Given the description of an element on the screen output the (x, y) to click on. 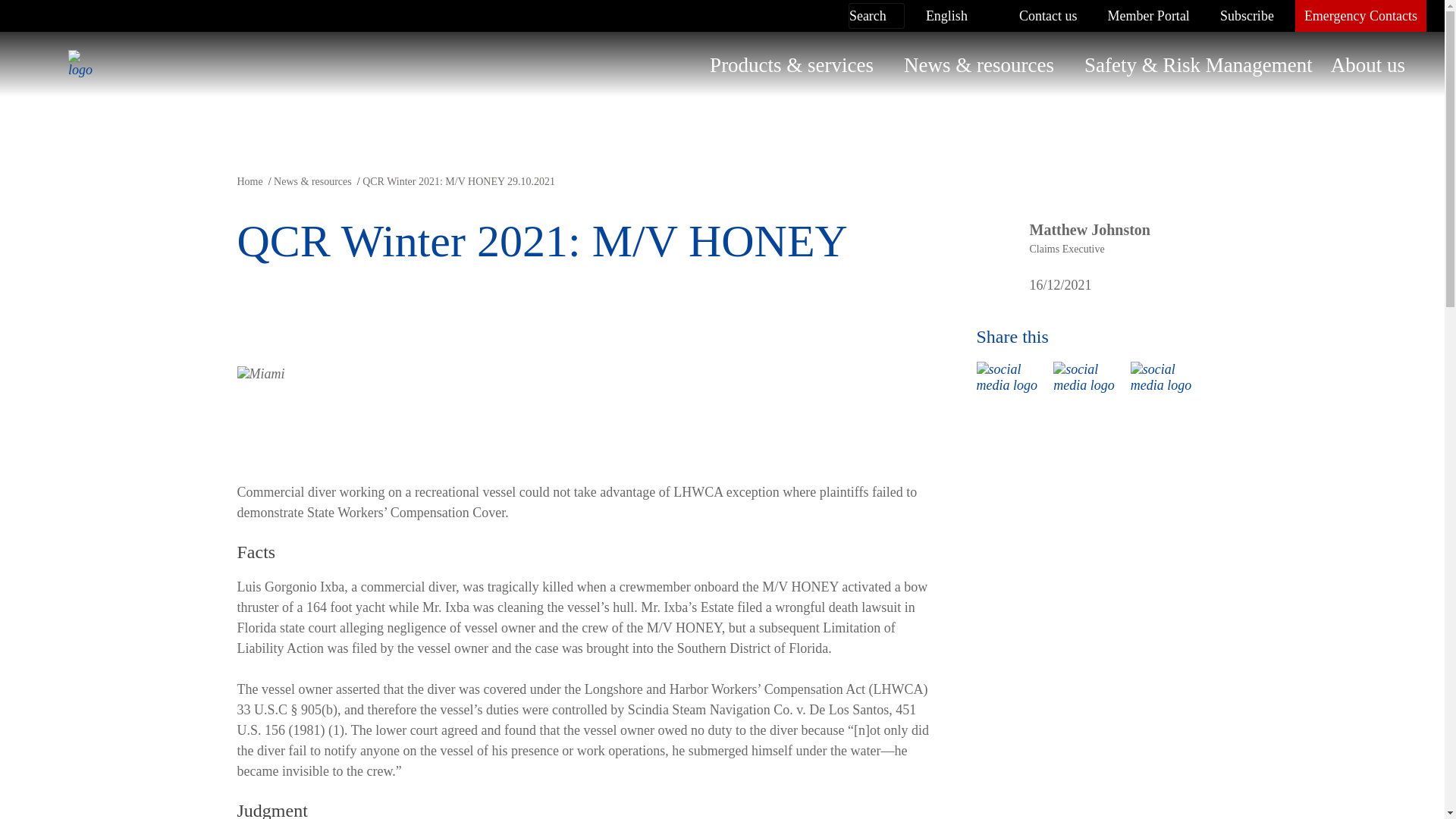
Emergency Contacts (1360, 15)
Contact us (1048, 15)
English (946, 15)
Subscribe (1246, 15)
About us (1367, 65)
Member Portal (1147, 15)
